Given the description of an element on the screen output the (x, y) to click on. 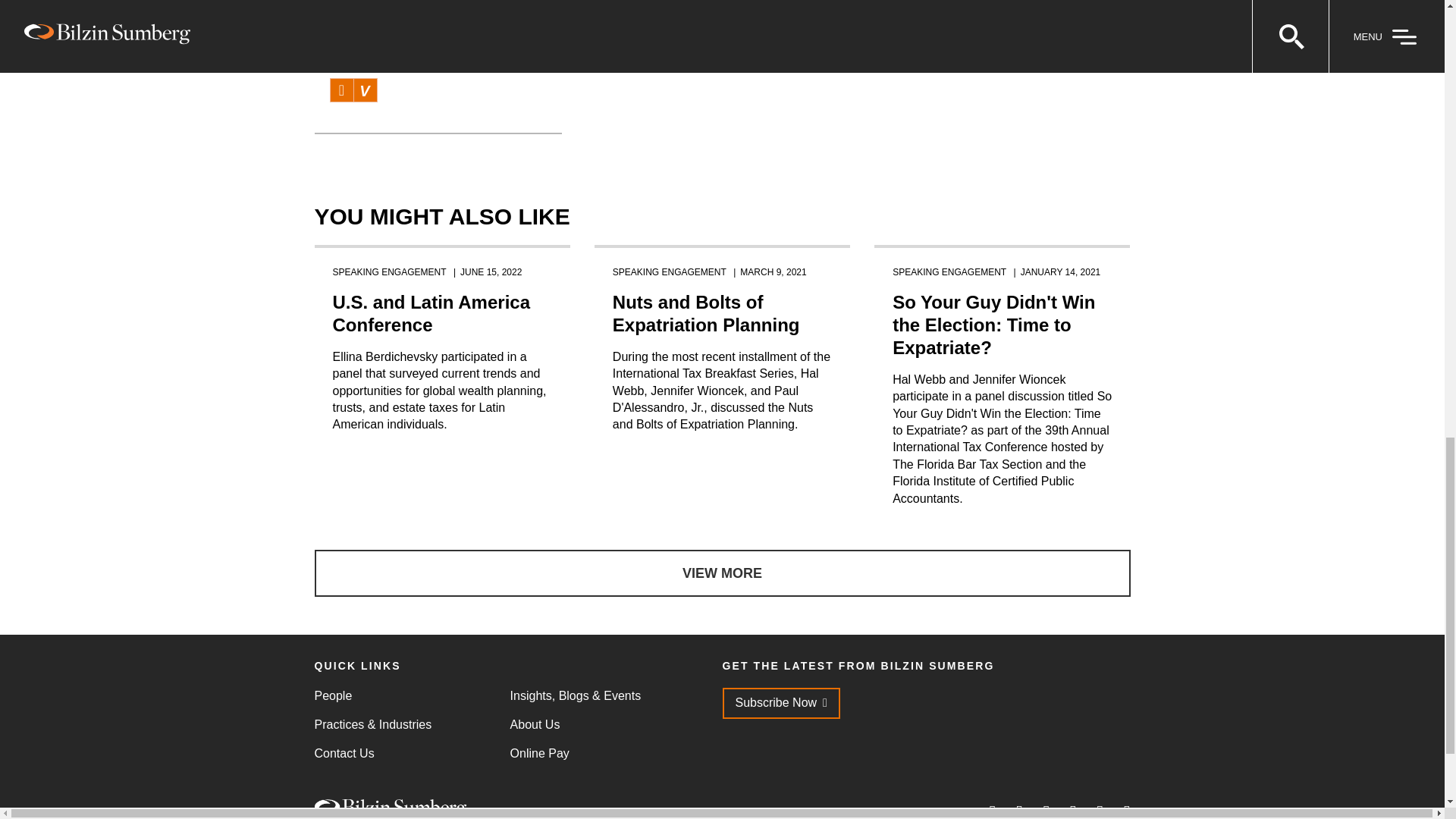
linkedin (341, 89)
vCard (364, 89)
Shawn P. Wolf (369, 36)
